Given the description of an element on the screen output the (x, y) to click on. 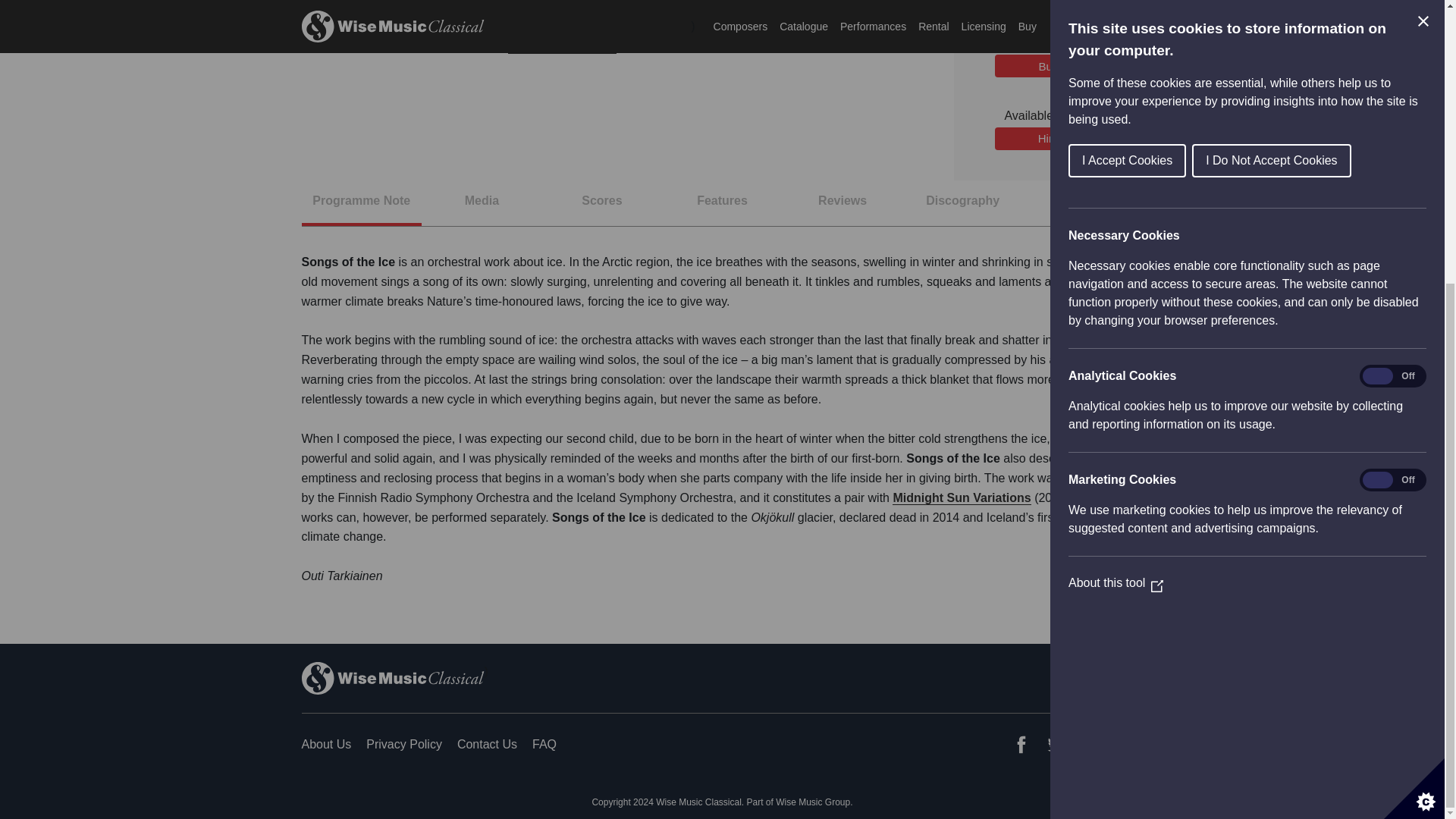
Media (481, 208)
Reviews (842, 208)
Midnight Sun Variations (961, 498)
Buy (1048, 65)
Hire (1048, 138)
Discography (962, 208)
More Info (1082, 208)
Subscribe to nKoda (1048, 2)
View Past Performances (561, 48)
Scores (601, 208)
Programme Note (361, 208)
Features (722, 208)
